Given the description of an element on the screen output the (x, y) to click on. 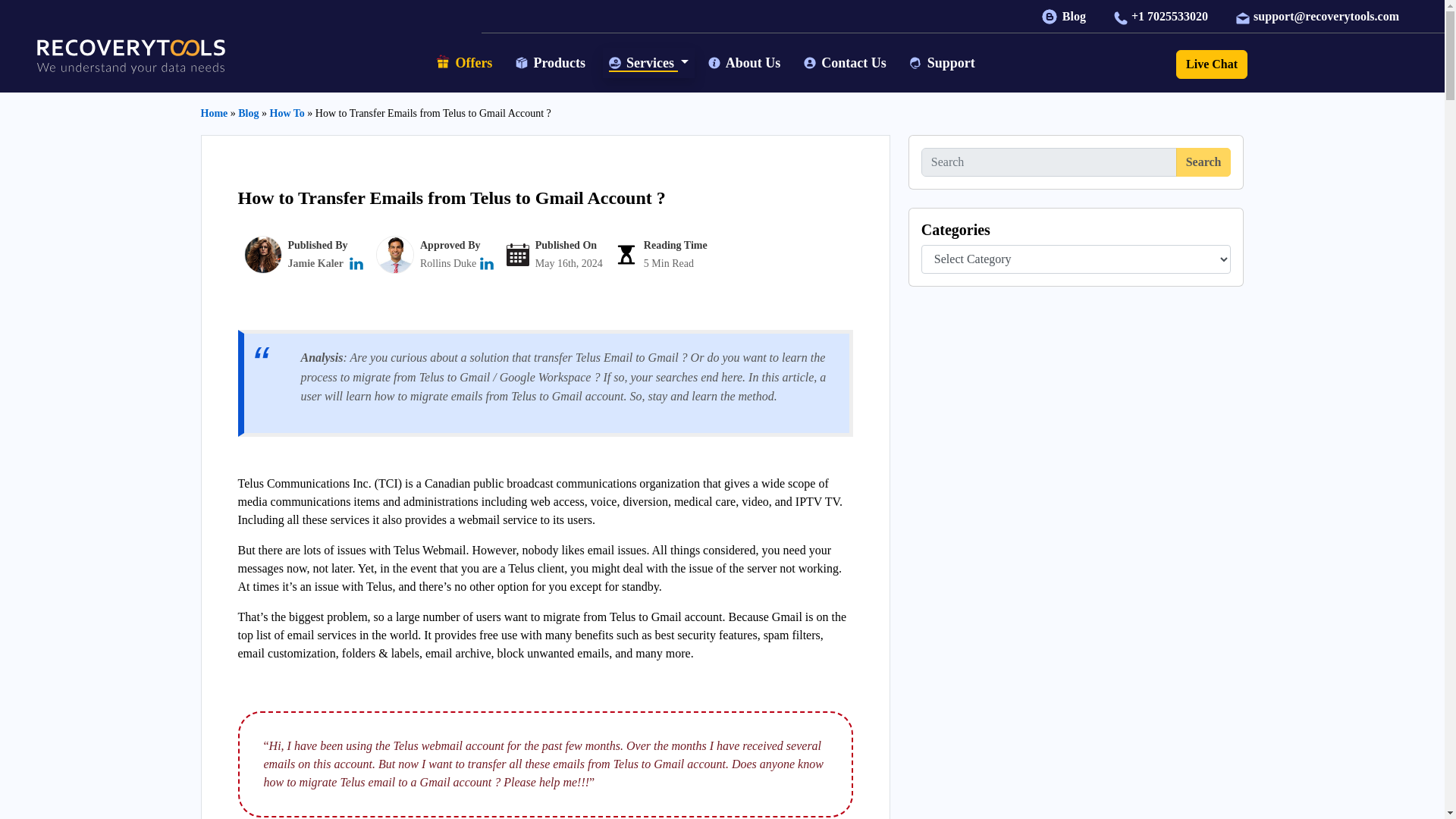
Blog (248, 112)
Services  (648, 62)
Offers  (465, 63)
Support  (943, 62)
Live Chat (1211, 63)
Blog (1065, 15)
Home (213, 112)
Jamie Kaler (315, 263)
Products  (552, 62)
How To (286, 112)
Contact Us  (846, 62)
About Us  (745, 62)
Search (1203, 162)
